Given the description of an element on the screen output the (x, y) to click on. 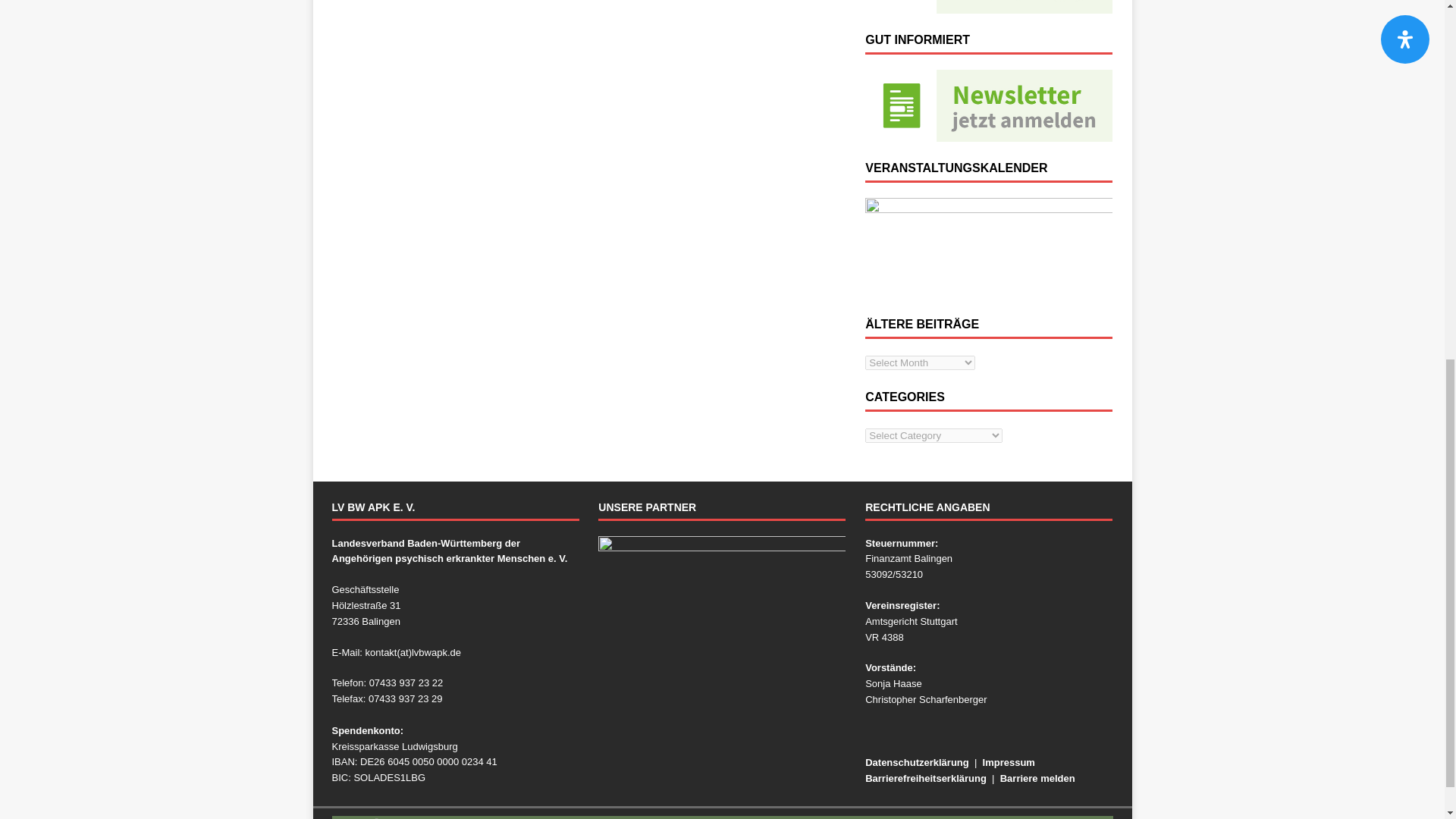
Barriere melden (1037, 778)
VERANSTALTUNGSKALENDER (988, 248)
Newsletter (988, 105)
Spenden und helfen (988, 6)
Impressum (1008, 762)
Unsere Partner (721, 659)
